Given the description of an element on the screen output the (x, y) to click on. 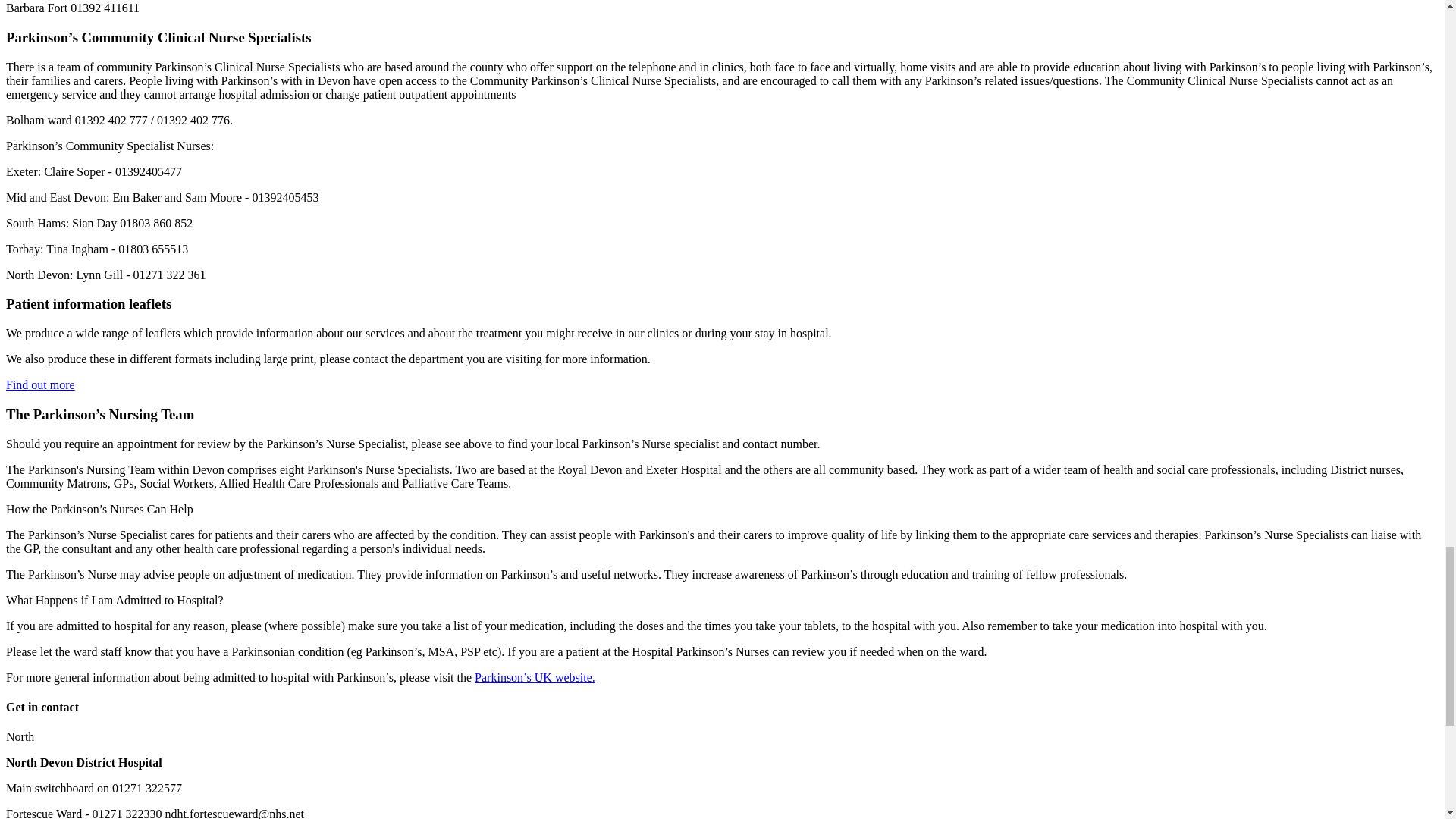
Patient Information leaflets - template (40, 384)
